Given the description of an element on the screen output the (x, y) to click on. 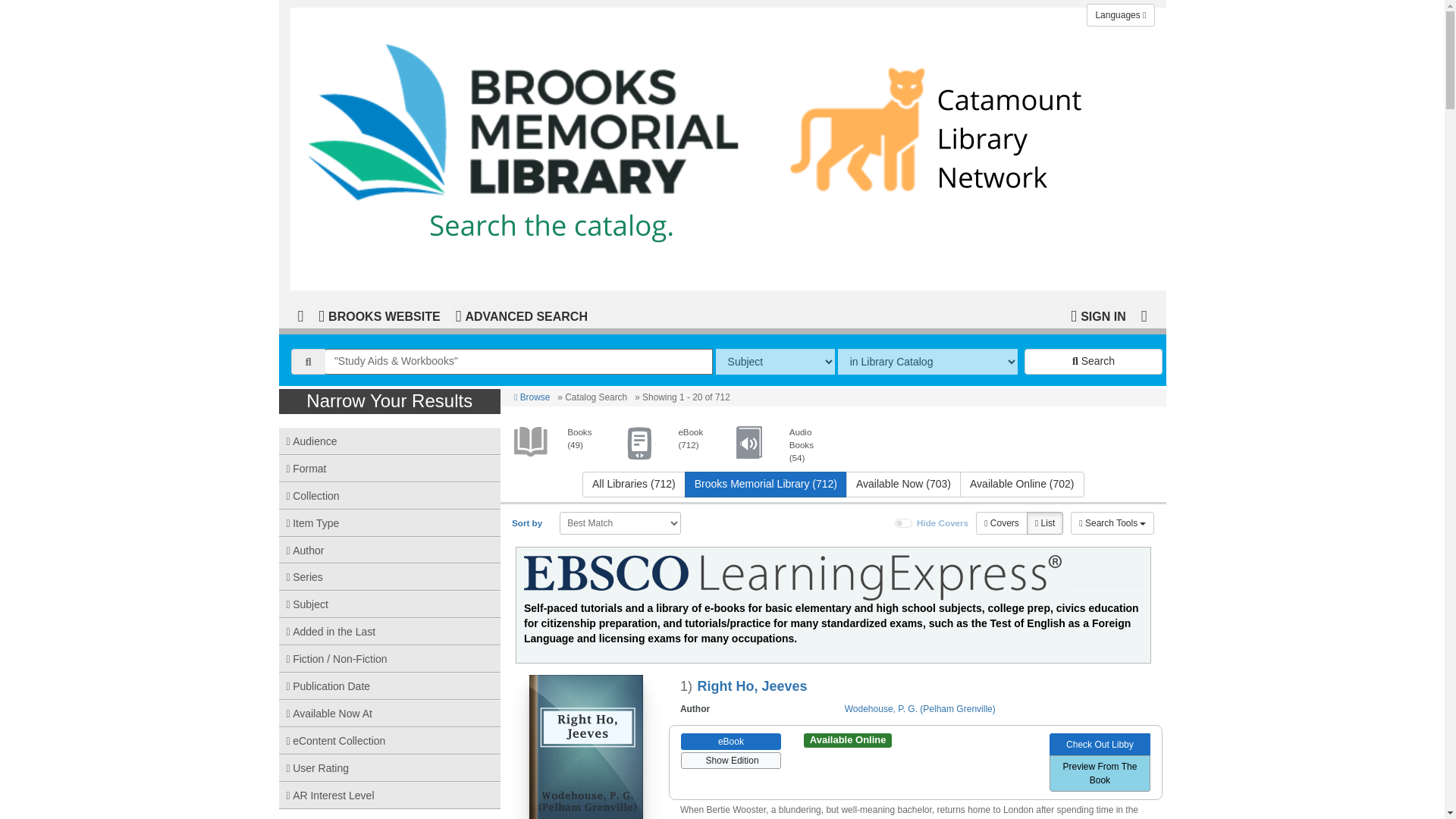
SIGN IN (1098, 314)
Show Menu (1144, 314)
Browse the Catalog (300, 314)
Languages  (1120, 15)
ADVANCED SEARCH (521, 314)
on (903, 522)
Login (1098, 314)
BROOKS WEBSITE (379, 314)
The method of searching. (775, 361)
 Search (1093, 361)
